Given the description of an element on the screen output the (x, y) to click on. 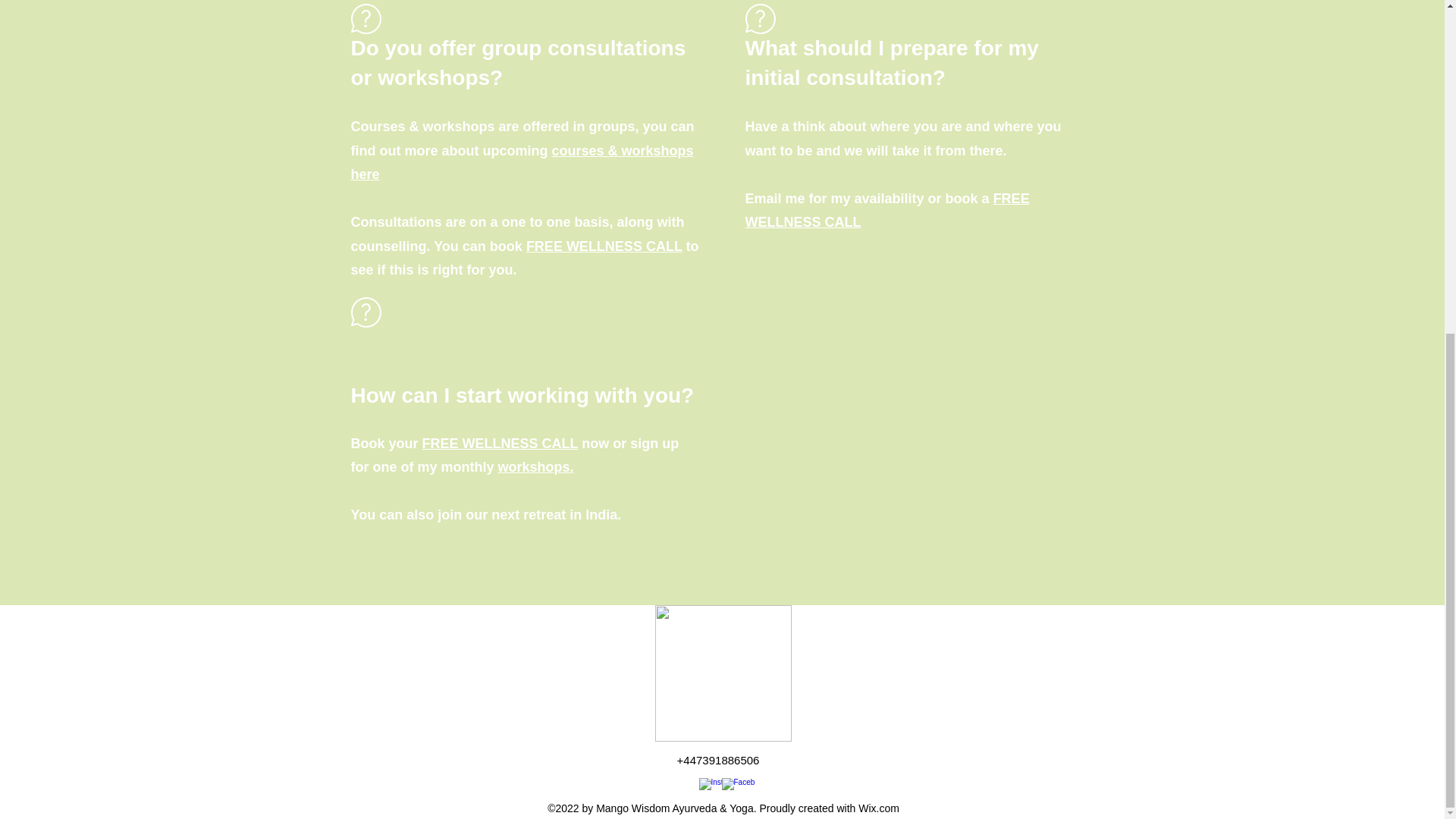
FREE WELLNESS CALL (500, 443)
FREE WELLNESS CALL (603, 246)
FREE WELLNESS CALL (886, 210)
workshops. (535, 467)
